Given the description of an element on the screen output the (x, y) to click on. 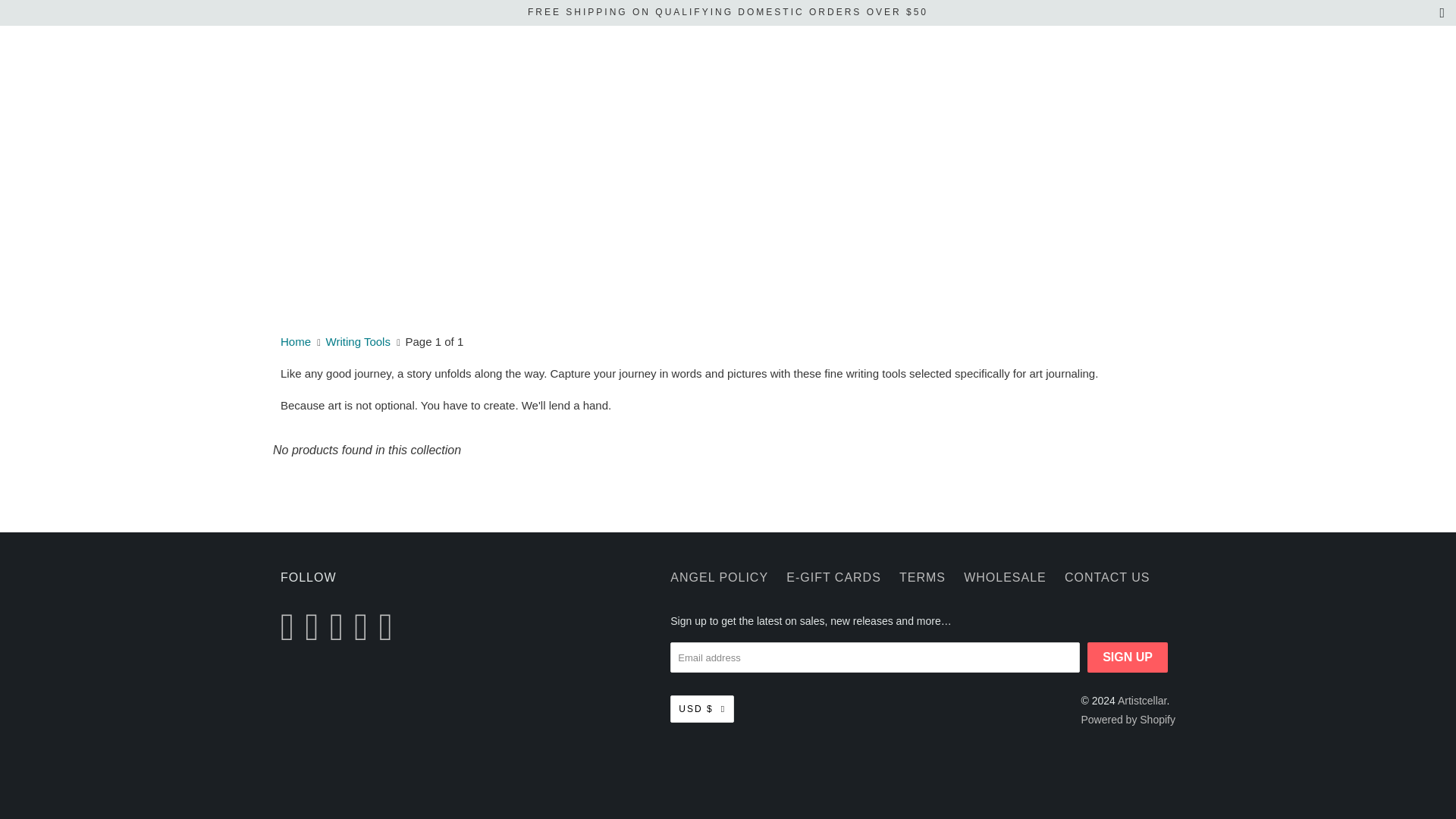
Writing Tools (358, 341)
Artistcellar on Facebook (315, 627)
Artistcellar on YouTube (340, 627)
Search (1137, 45)
Artistcellar on Instagram (389, 627)
My Account  (1119, 45)
Artistcellar on Pinterest (364, 627)
Artistcellar (348, 45)
Artistcellar on Twitter (291, 627)
Sign Up (1127, 657)
Artistcellar (296, 341)
